Given the description of an element on the screen output the (x, y) to click on. 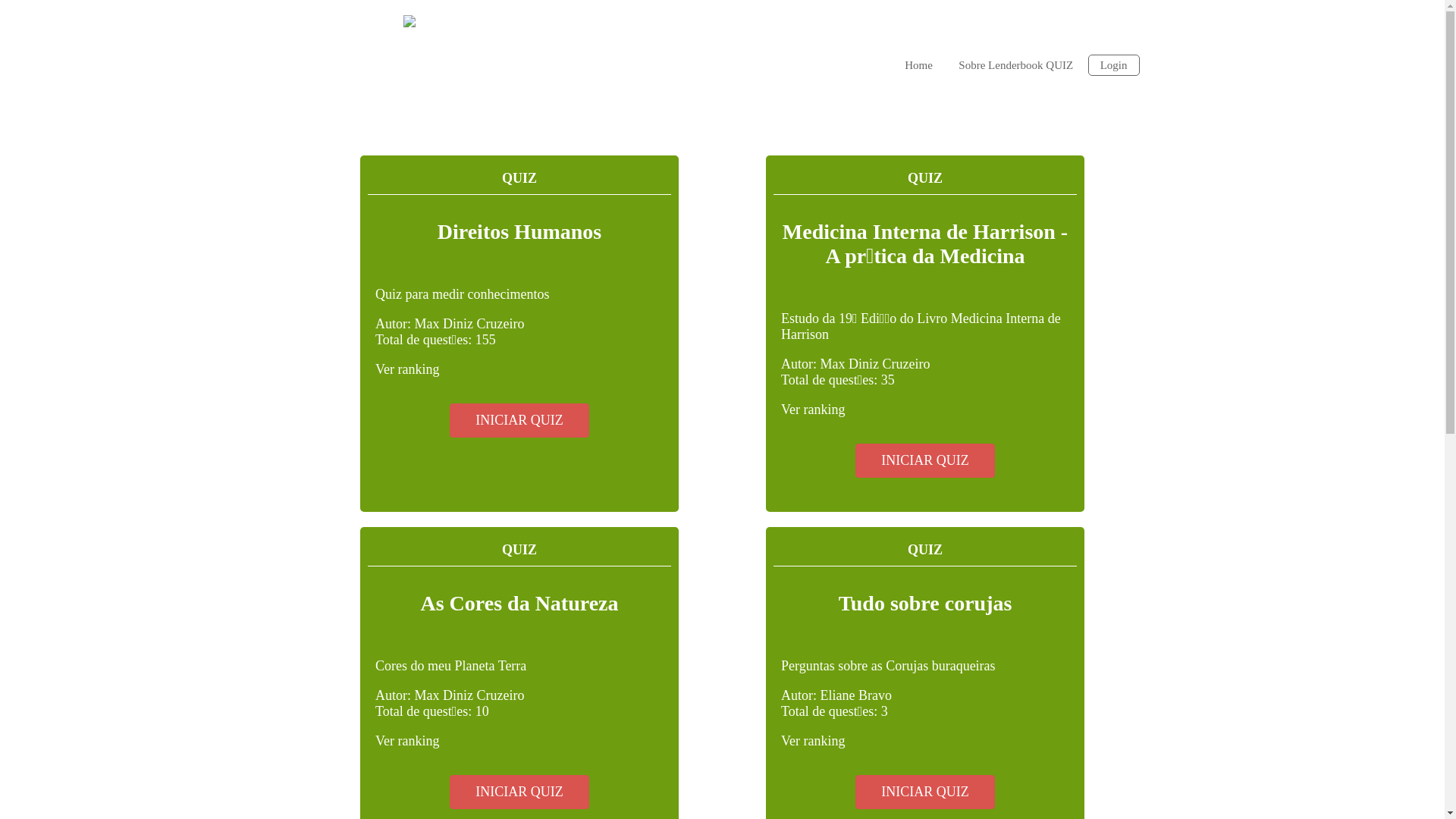
      INICIAR QUIZ       Element type: text (924, 460)
      INICIAR QUIZ       Element type: text (518, 420)
Ver ranking Element type: text (812, 740)
      INICIAR QUIZ       Element type: text (518, 792)
Home Element type: text (918, 64)
Ver ranking Element type: text (407, 740)
Login Element type: text (1113, 64)
Ver ranking Element type: text (407, 368)
Sobre Lenderbook QUIZ Element type: text (1015, 64)
Ver ranking Element type: text (812, 409)
      INICIAR QUIZ       Element type: text (924, 792)
